Given the description of an element on the screen output the (x, y) to click on. 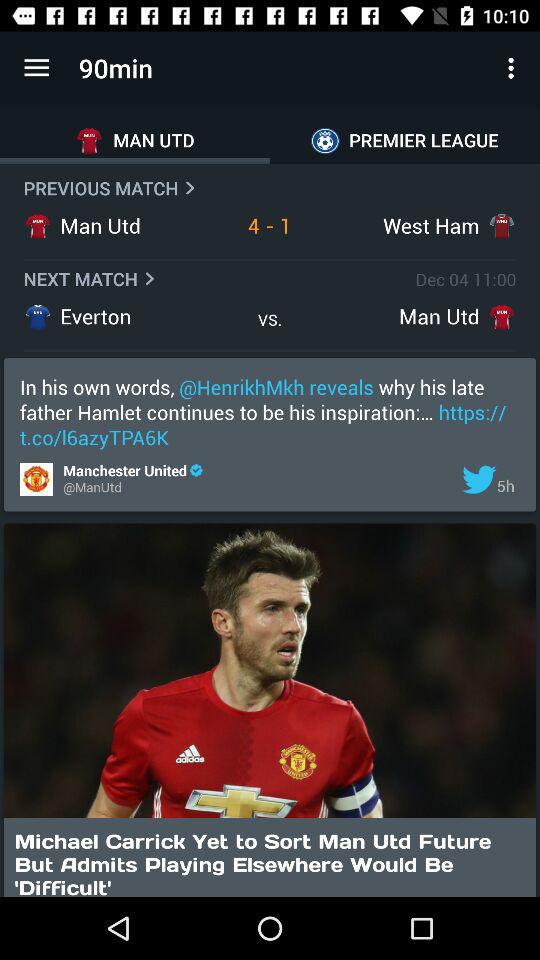
open the in his own icon (269, 411)
